Given the description of an element on the screen output the (x, y) to click on. 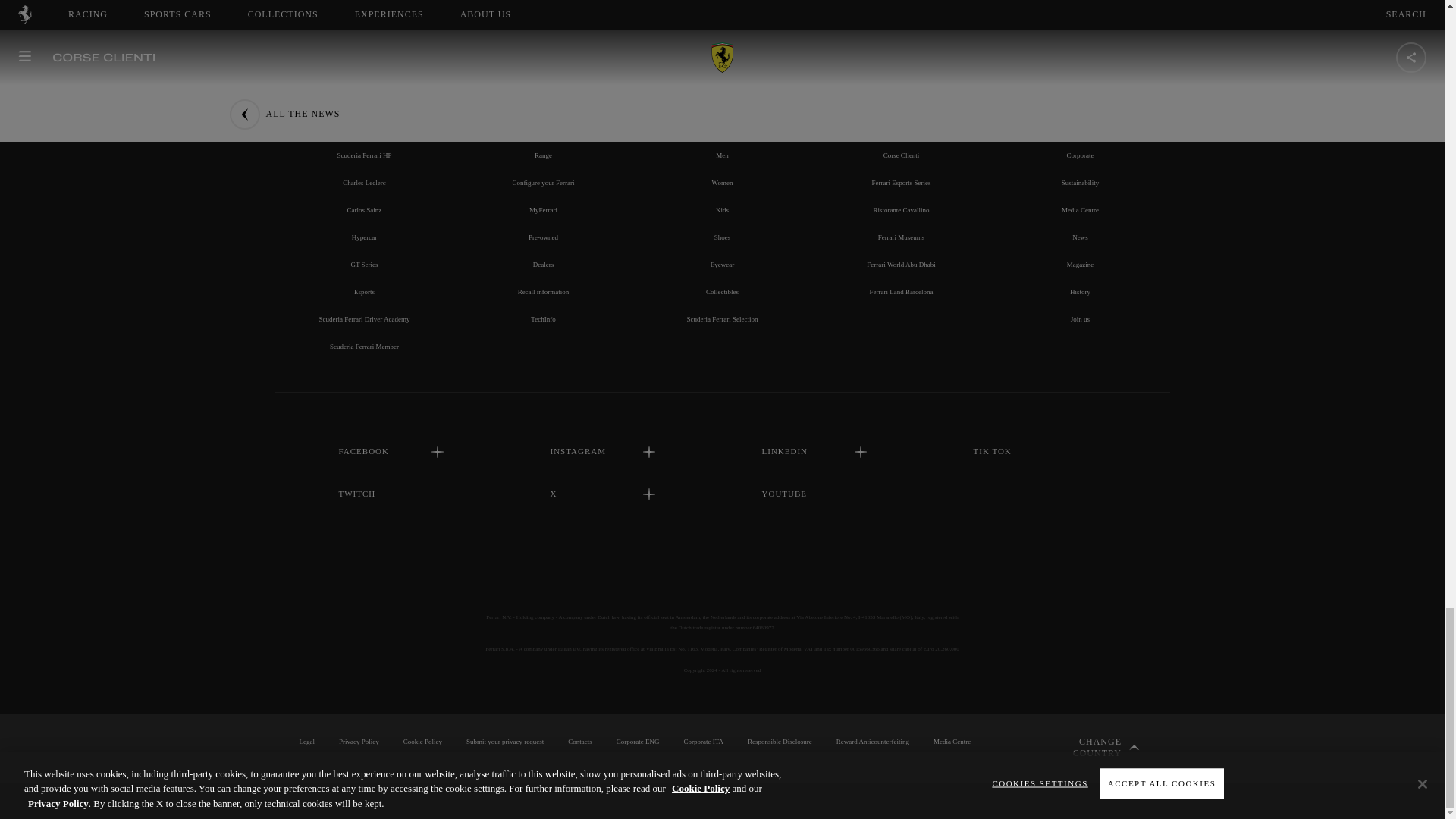
Scuderia Ferrari Member (364, 346)
Charles Leclerc (363, 182)
Carlos Sainz (364, 209)
MyFerrari (543, 209)
GT Series (363, 264)
Change country (1090, 747)
Hypercar (364, 236)
Esports (363, 291)
Configure your Ferrari (543, 182)
Scuderia Ferrari HP (363, 154)
